Given the description of an element on the screen output the (x, y) to click on. 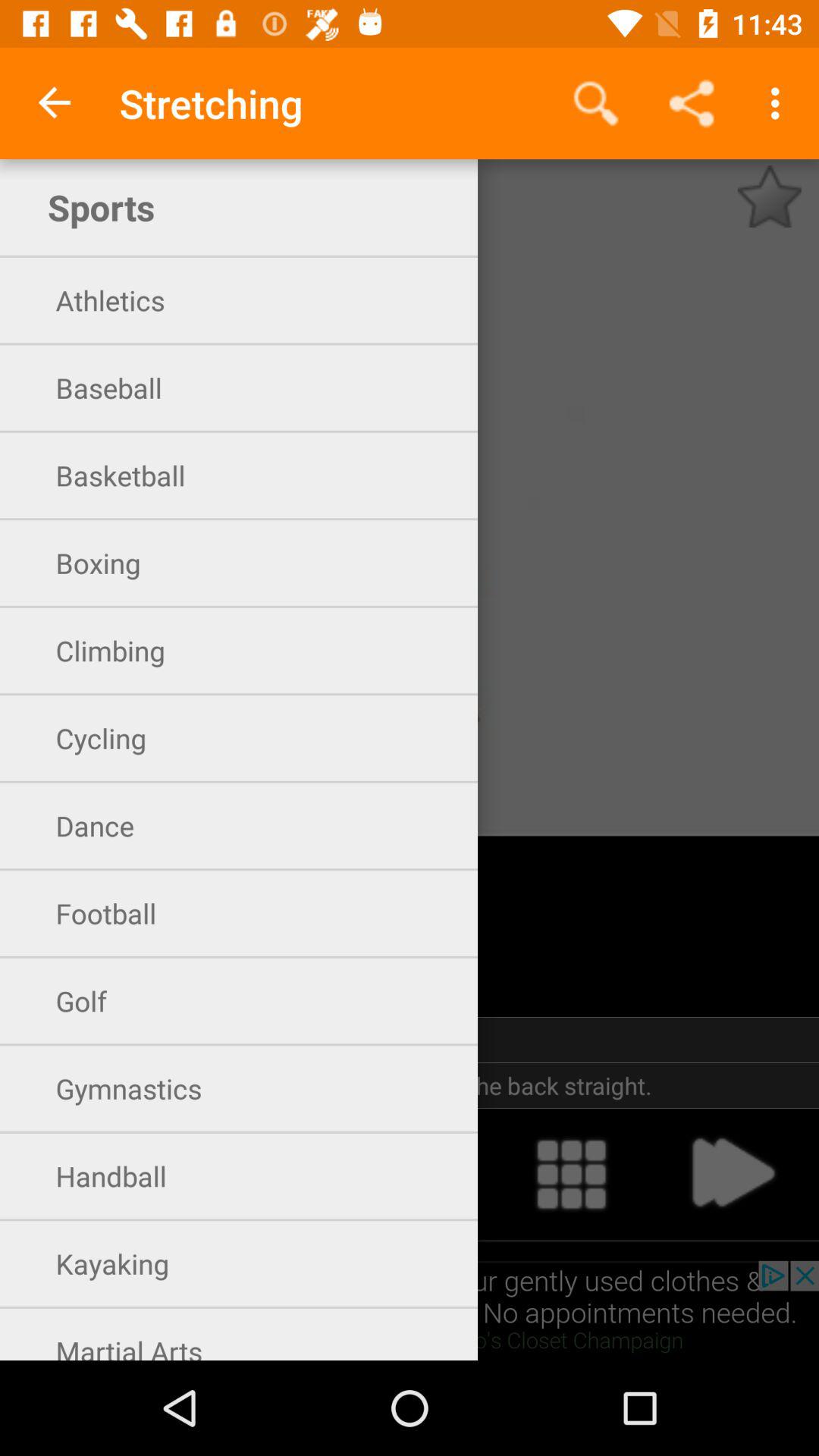
handball (86, 1174)
